Given the description of an element on the screen output the (x, y) to click on. 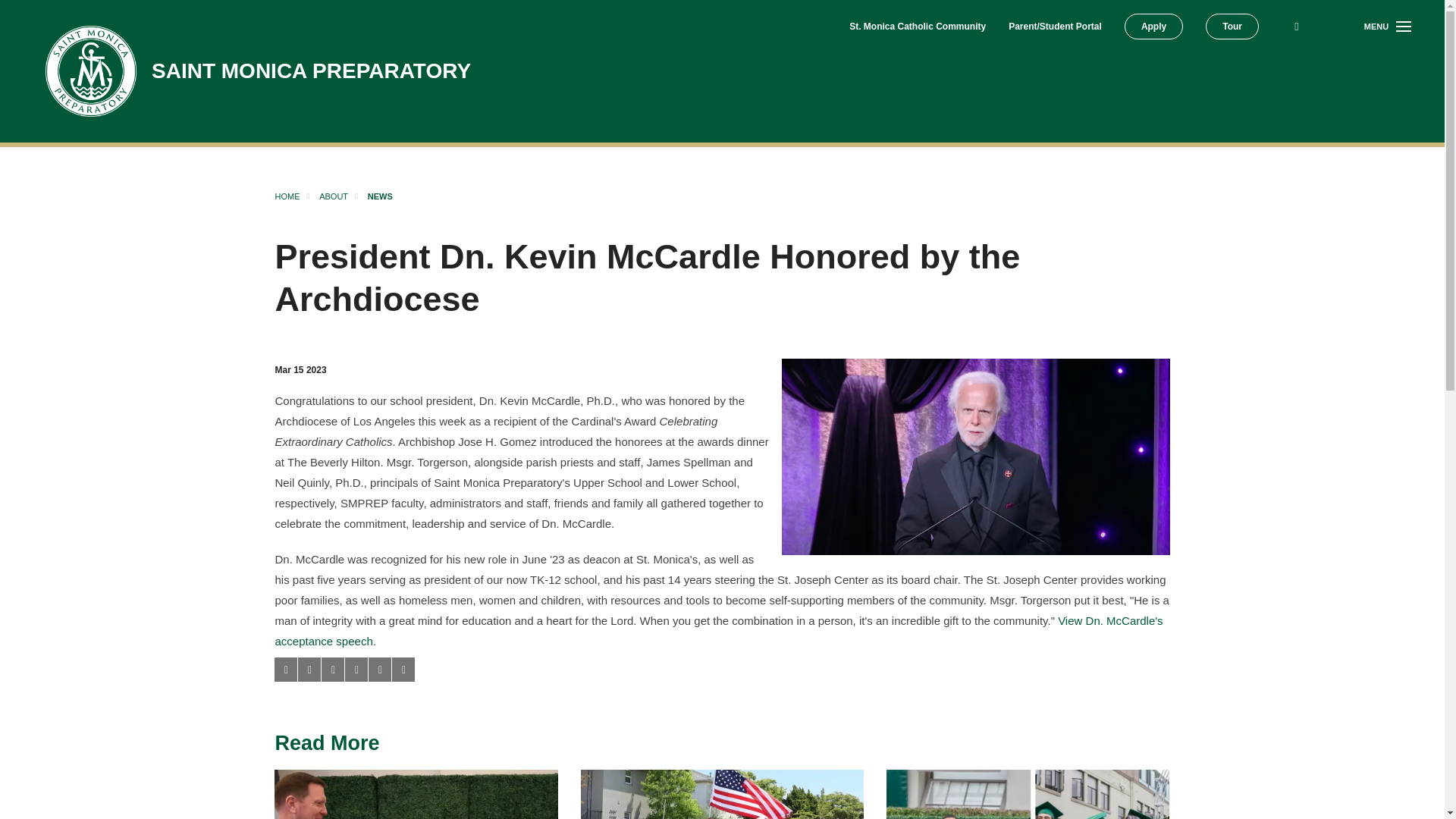
Mariners in the 4th of July parade (721, 794)
Ed Stokx with SMPREP students (416, 794)
Share to Facebook (286, 668)
Share to LinkedIn (332, 668)
Share to Twitter (309, 668)
Print this page (402, 668)
Dn. McCardle's acceptance speech (718, 630)
commencement speaker and graduates (1027, 794)
Share to Email (379, 668)
Share to Pinterest (356, 668)
